Given the description of an element on the screen output the (x, y) to click on. 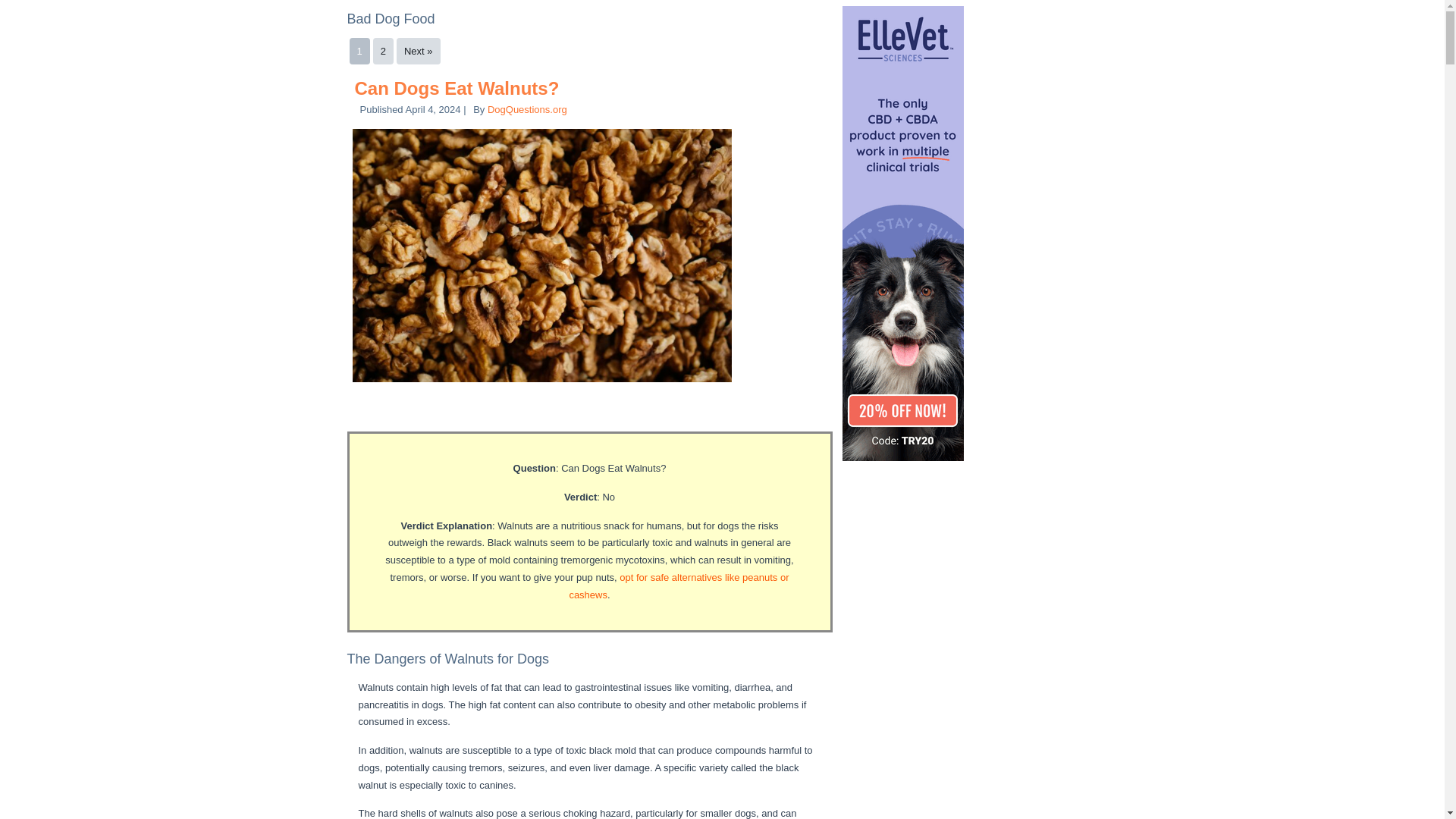
DogQuestions.org (527, 109)
10:15 pm (433, 109)
Can Dogs Eat Walnuts? (457, 87)
Can Dogs Eat Walnuts? (457, 87)
2 (382, 50)
View all posts by DogQuestions.org (527, 109)
opt for safe alternatives like peanuts or cashews (679, 585)
